Given the description of an element on the screen output the (x, y) to click on. 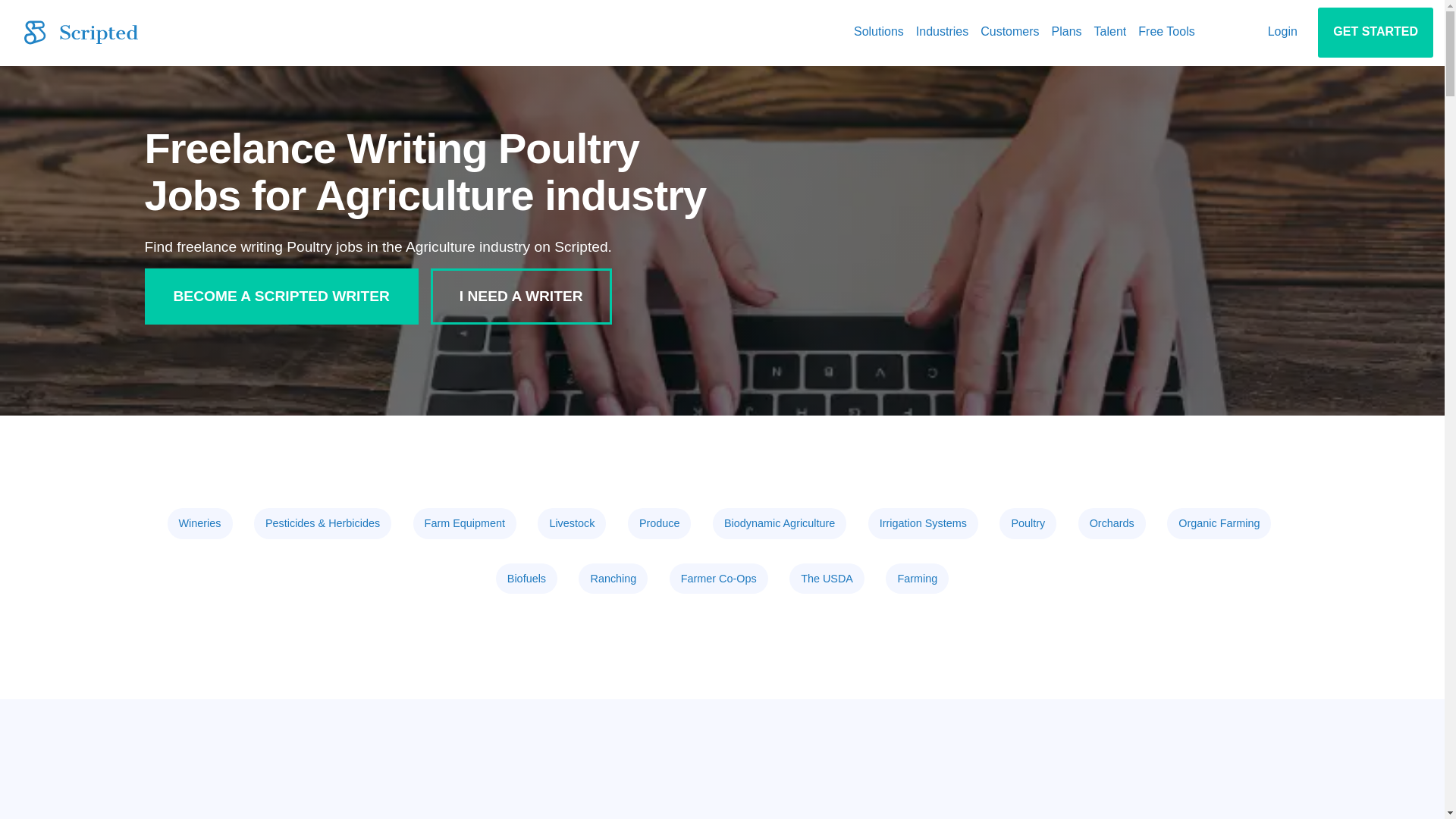
Solutions (878, 32)
GET STARTED (1374, 32)
Industries (942, 32)
Talent (1109, 32)
Customers (1009, 32)
Free Tools (1165, 32)
